Given the description of an element on the screen output the (x, y) to click on. 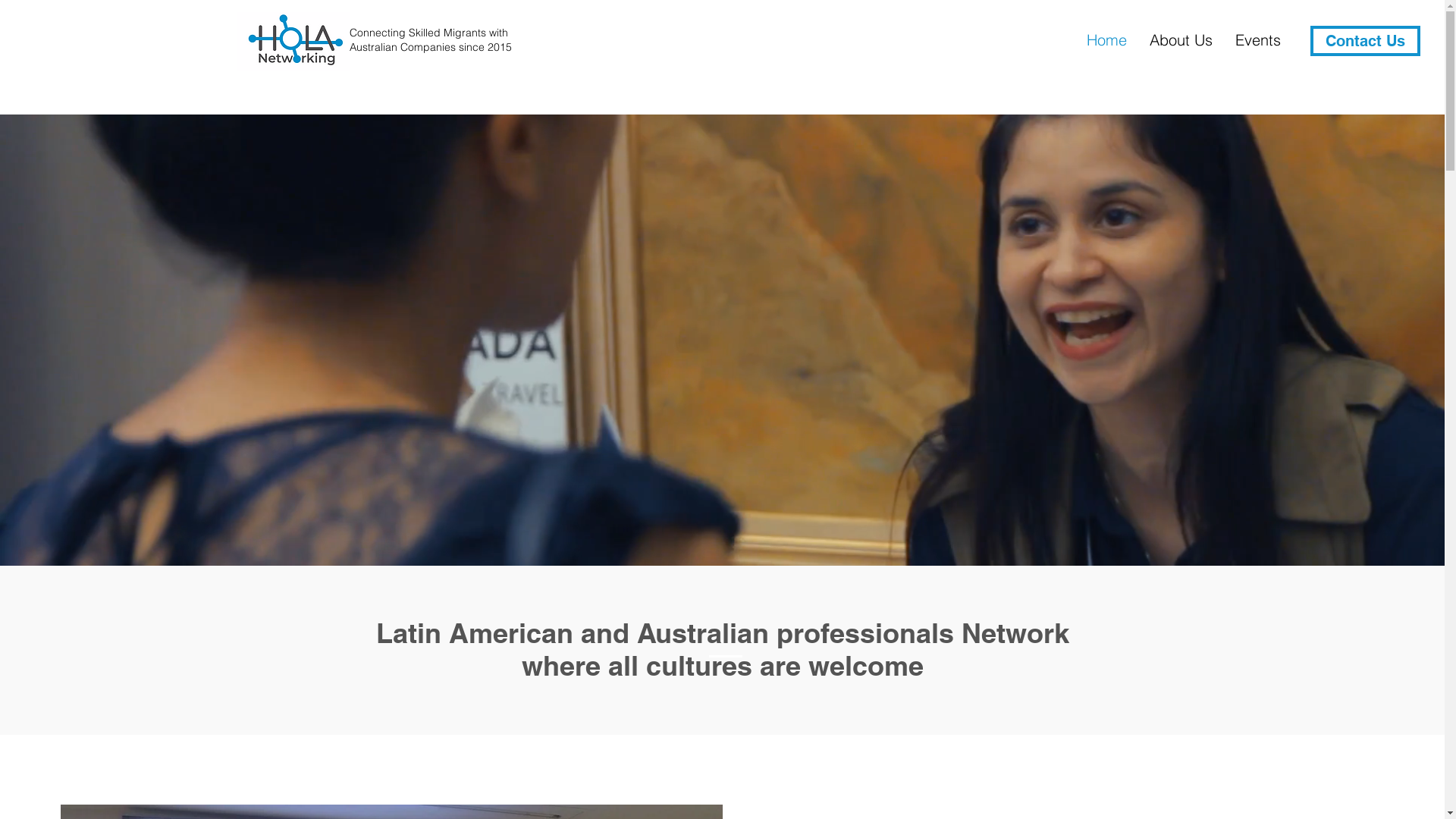
Contact Us Element type: text (1365, 40)
Hola Networking_PNG_white.png Element type: hover (293, 41)
Home Element type: text (1106, 40)
About Us Element type: text (1180, 40)
Events Element type: text (1257, 40)
